Given the description of an element on the screen output the (x, y) to click on. 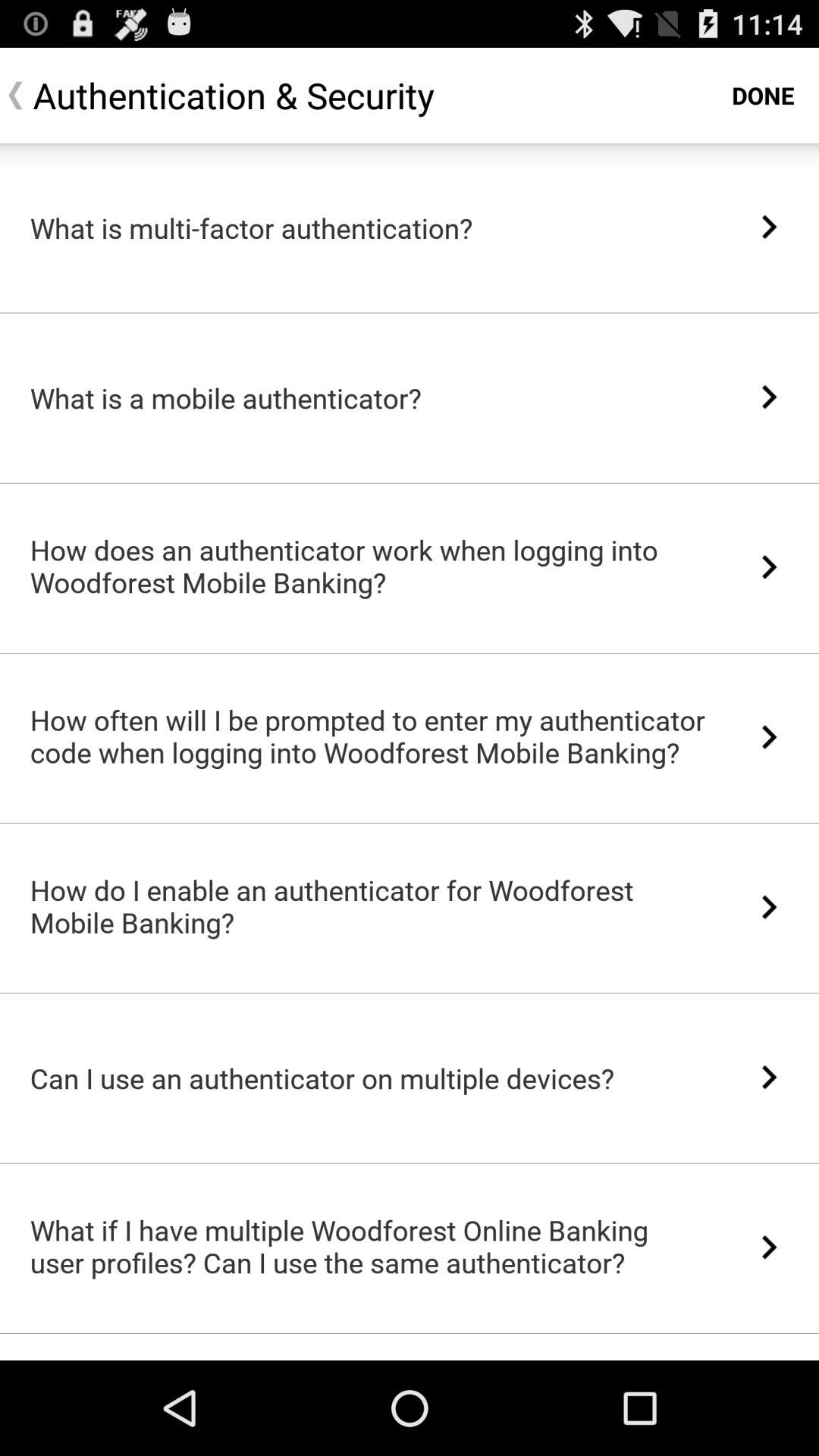
tap item next to what if i icon (768, 1247)
